Given the description of an element on the screen output the (x, y) to click on. 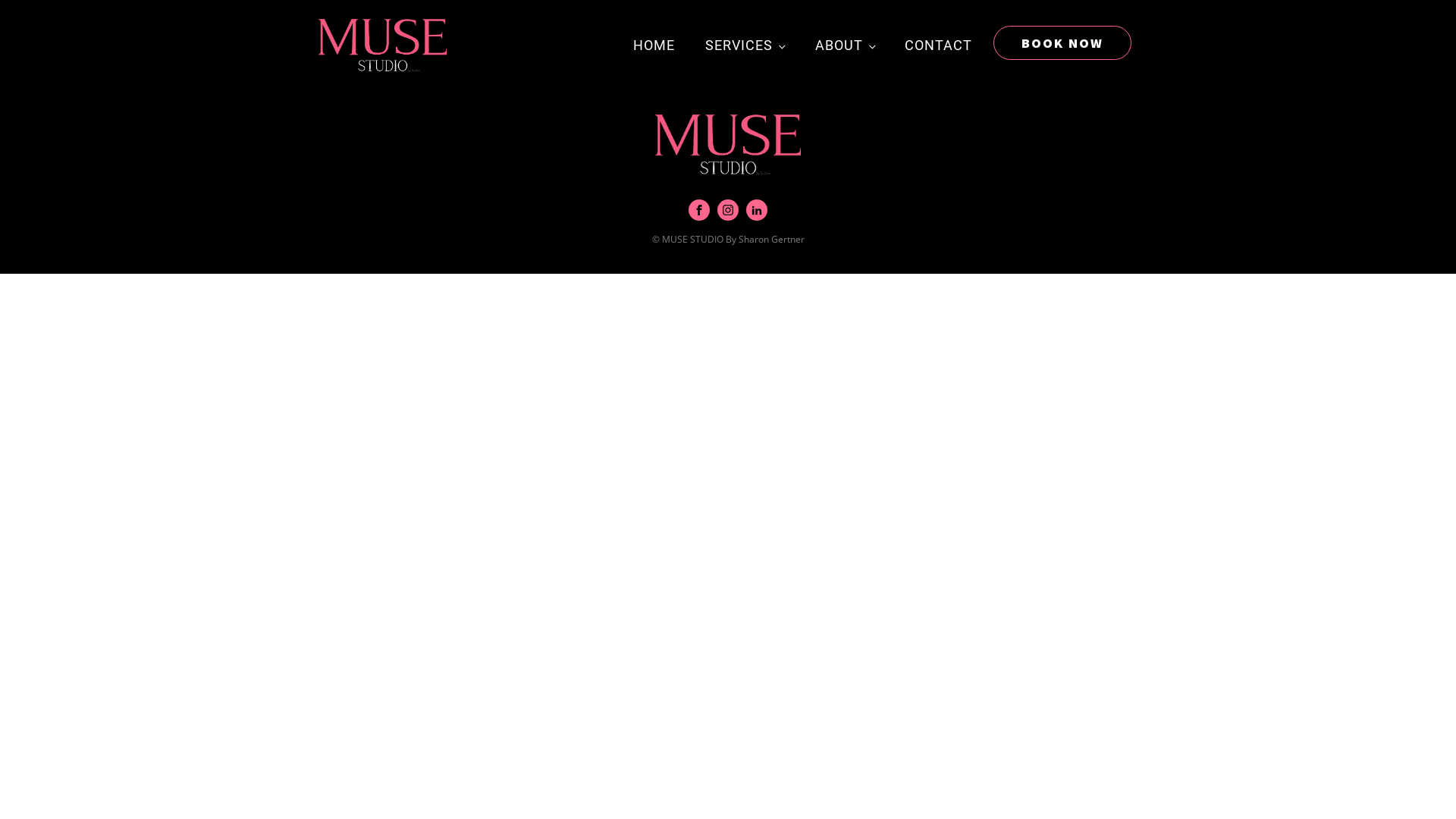
ABOUT Element type: text (844, 45)
BOOK NOW Element type: text (1062, 42)
SERVICES Element type: text (744, 45)
CONTACT Element type: text (938, 45)
HOME Element type: text (654, 45)
